Given the description of an element on the screen output the (x, y) to click on. 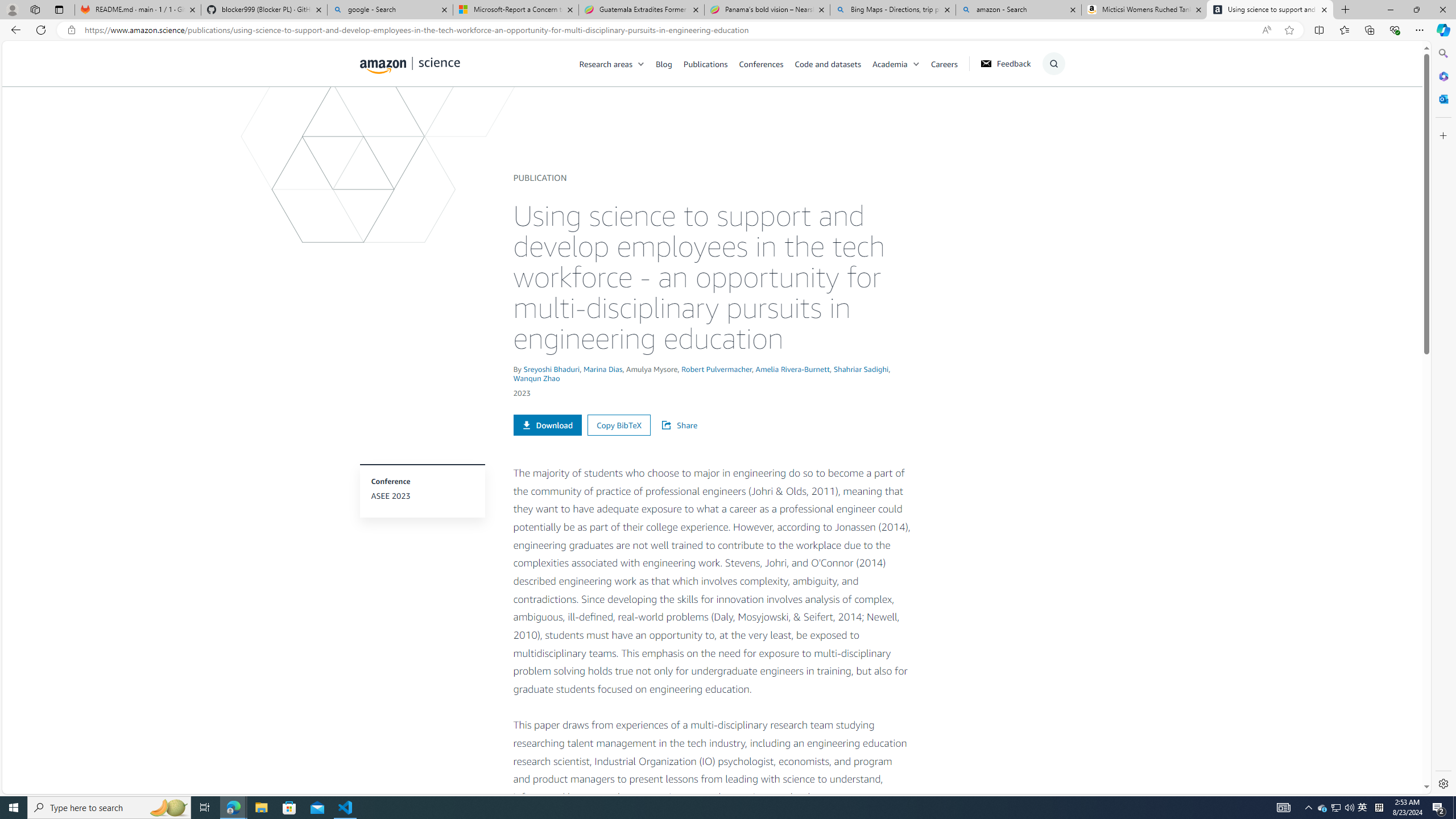
Outlook (1442, 98)
Shahriar Sadighi (860, 368)
Careers (949, 63)
Show Search Form (1053, 63)
home page (409, 62)
Class: icon-magnify (372, 108)
Side bar (1443, 418)
Class: chevron (916, 66)
amazon - Search (1018, 9)
